Given the description of an element on the screen output the (x, y) to click on. 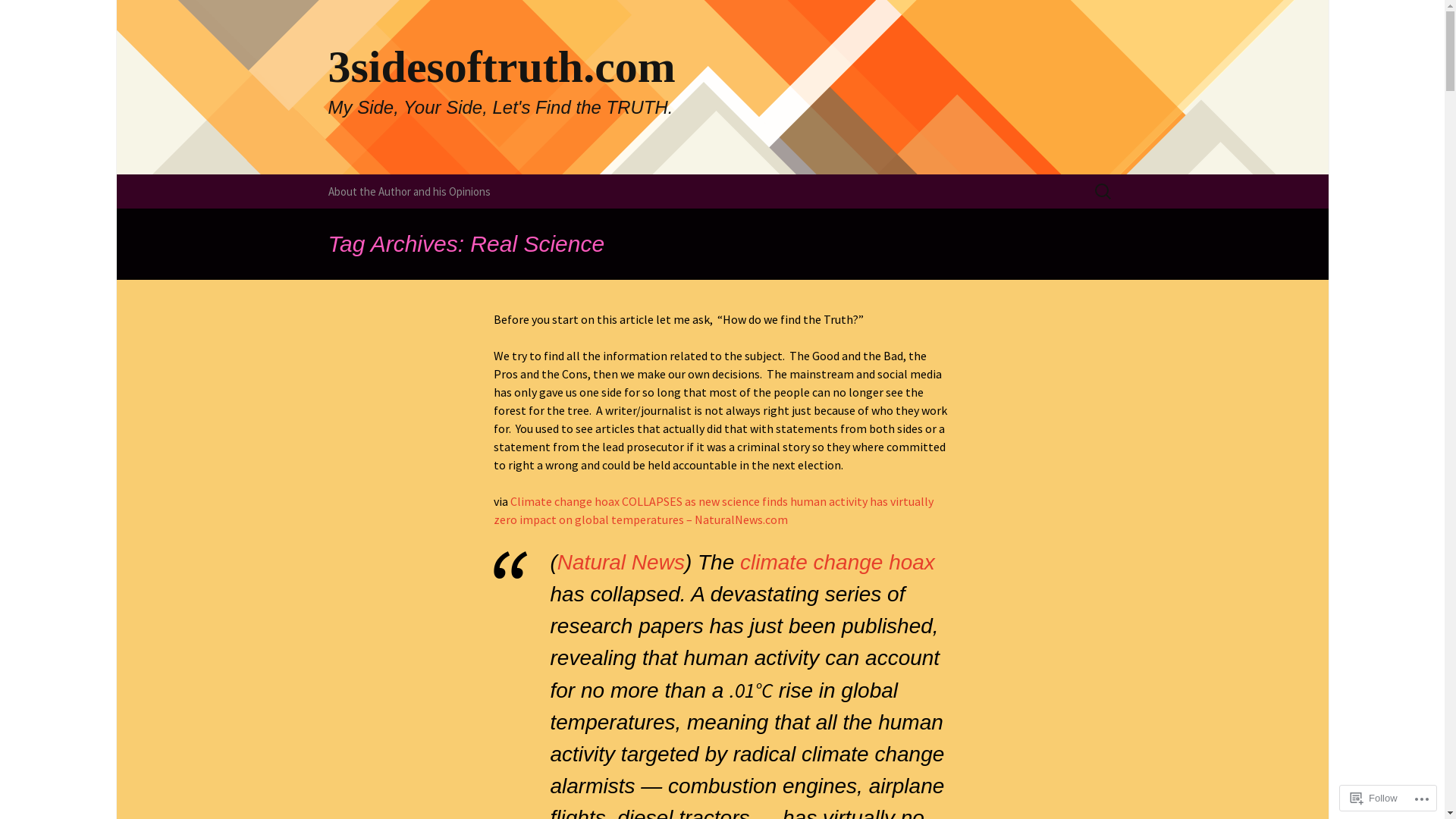
climate change hoax Element type: text (837, 562)
About the Author and his Opinions Element type: text (408, 191)
Natural News Element type: text (620, 562)
3sidesoftruth.com
My Side, Your Side, Let's Find the TRUTH. Element type: text (721, 87)
Search Element type: text (18, 16)
Follow Element type: text (1373, 797)
Search Element type: text (34, 15)
